Given the description of an element on the screen output the (x, y) to click on. 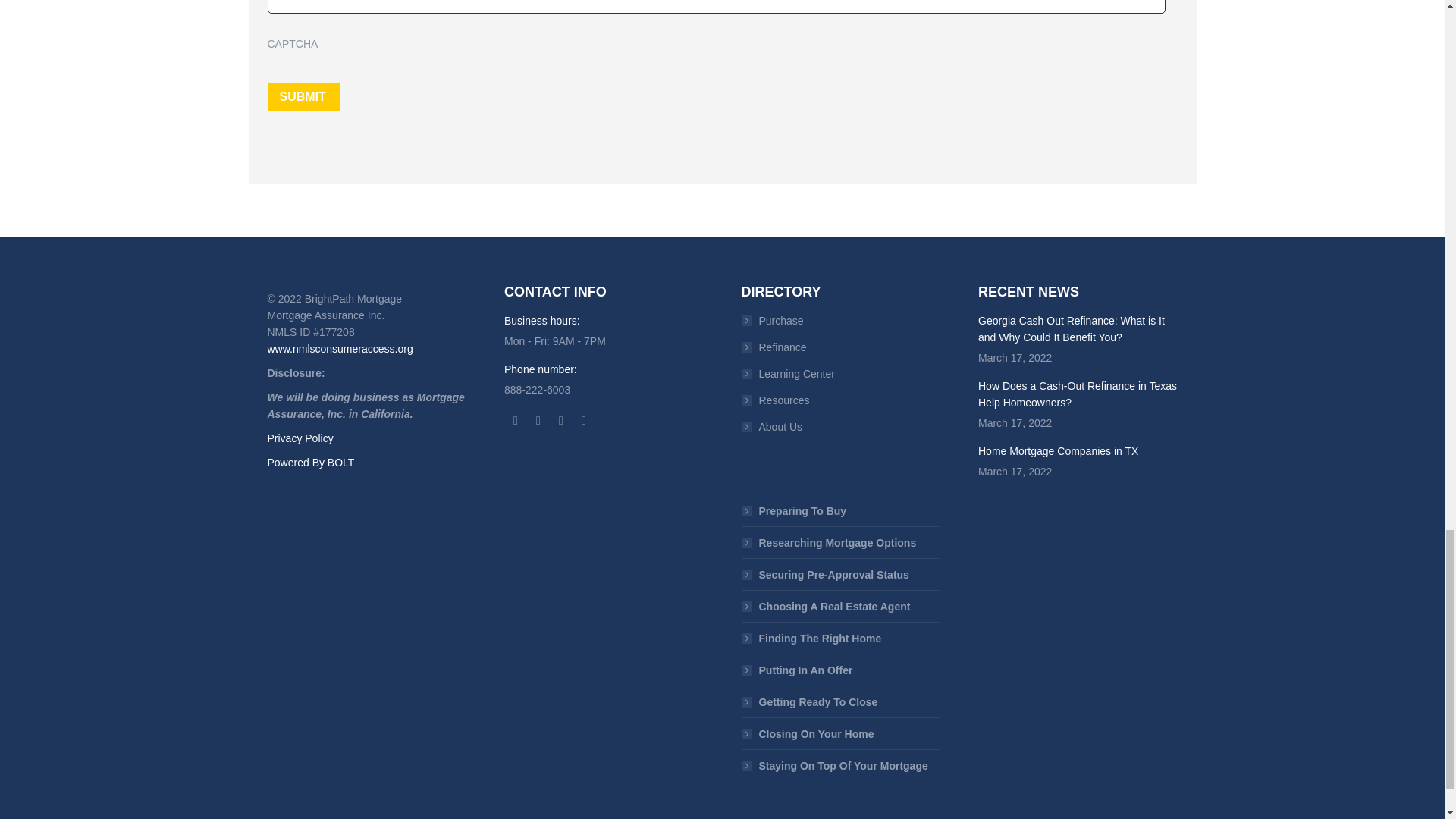
Facebook page opens in new window (515, 420)
Submit (302, 96)
Linkedin page opens in new window (583, 420)
YouTube page opens in new window (560, 420)
X page opens in new window (538, 420)
